Given the description of an element on the screen output the (x, y) to click on. 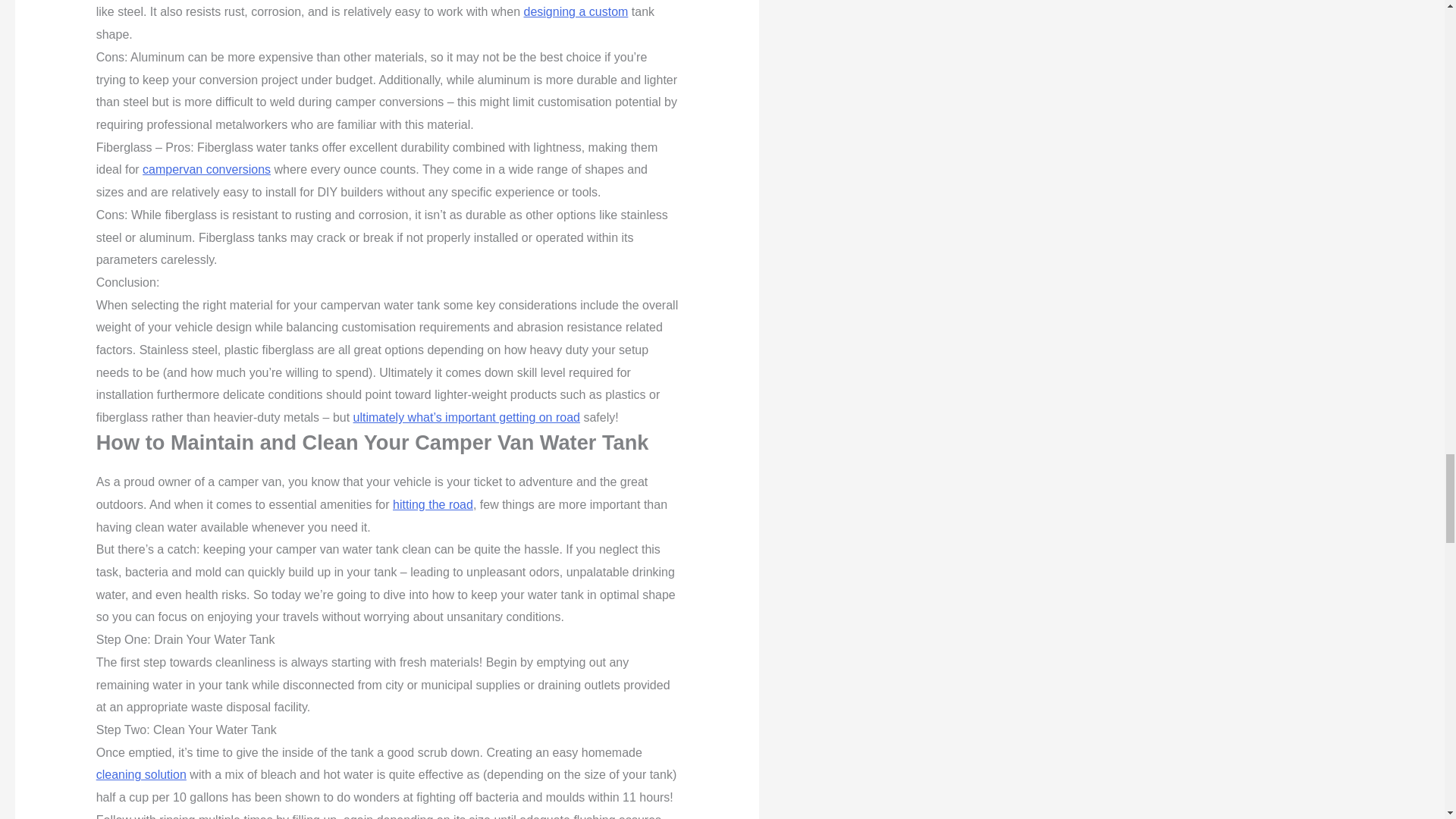
campervan conversions (206, 169)
designing a custom (574, 11)
cleaning solution (141, 774)
hitting the road (433, 504)
